Given the description of an element on the screen output the (x, y) to click on. 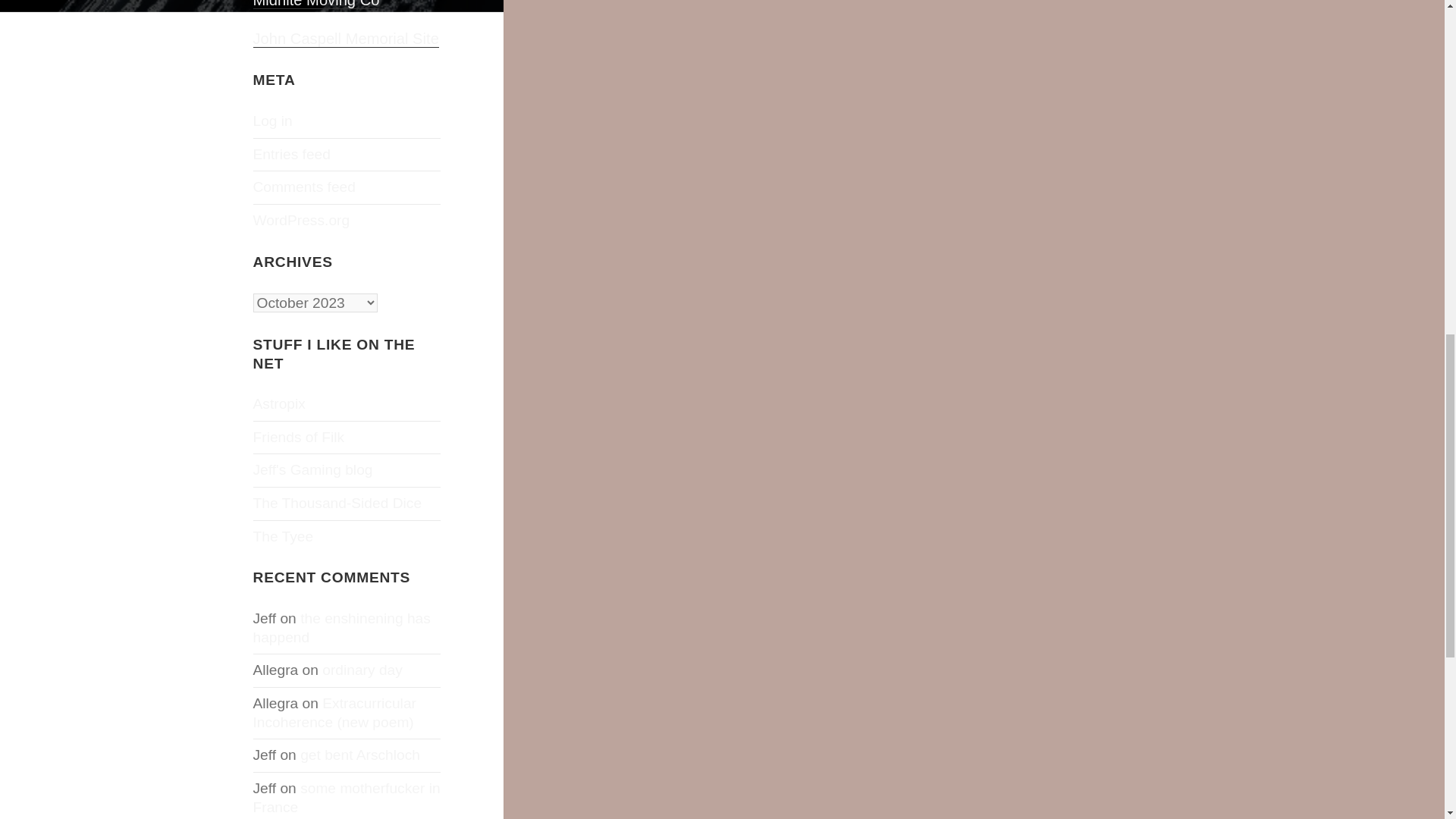
Comments feed (304, 186)
Jeff's Gaming blog (312, 469)
some motherfucker in France (347, 797)
The Thousand-Sided Dice (337, 503)
John Caspell Memorial Site (346, 39)
ordinary day (362, 669)
WordPress.org (301, 220)
The Tyee (283, 536)
Friends of Filk (298, 437)
Astropix (279, 403)
Midnite Moving Co (316, 4)
Filk site (298, 437)
Entries feed (291, 154)
the enshinening has happend (341, 627)
